Given the description of an element on the screen output the (x, y) to click on. 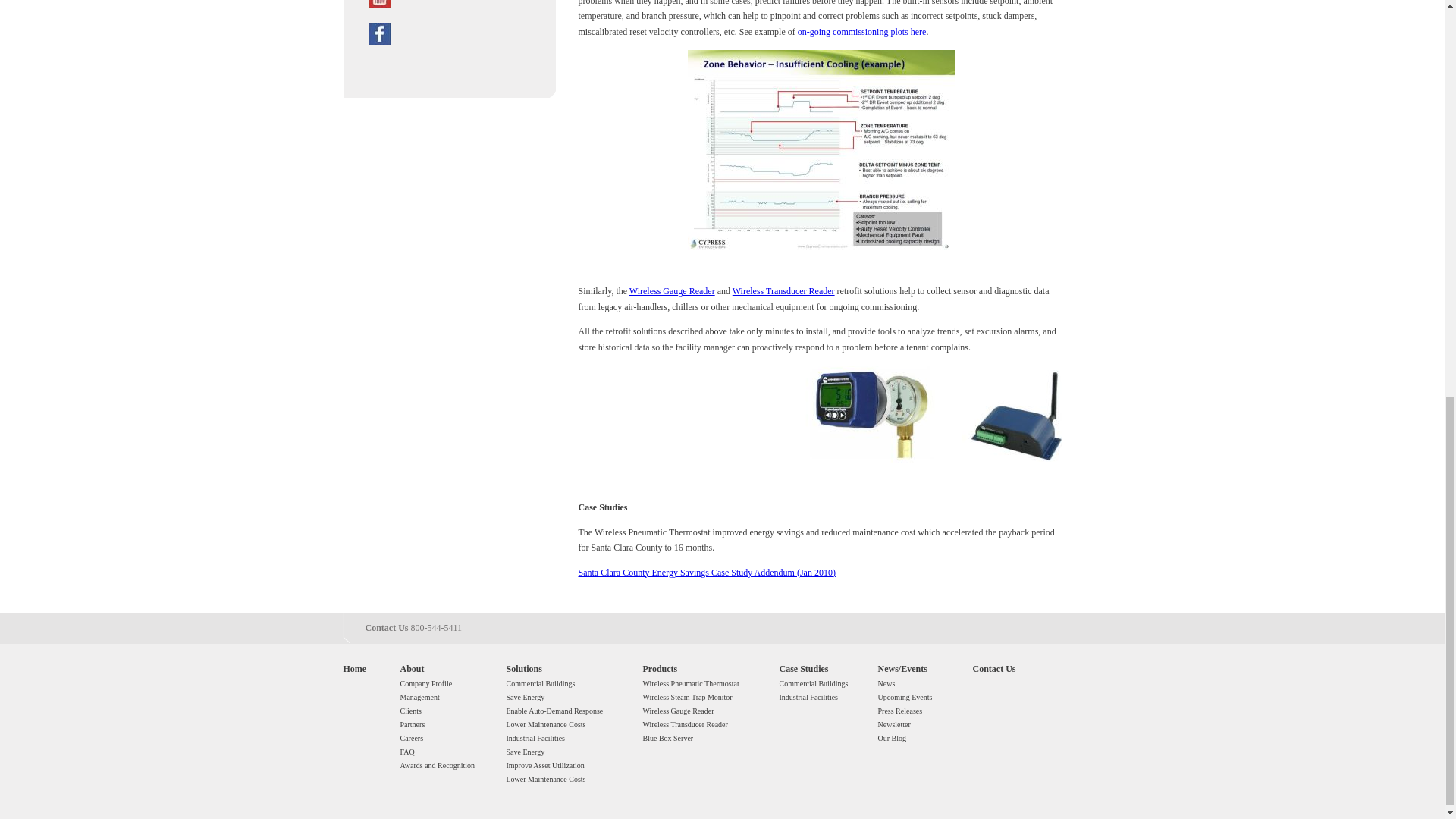
FAQ (407, 751)
Lower Maintenance Costs (546, 778)
Clients (411, 710)
Enable Auto-Demand Response (555, 710)
Commercial Buildings (540, 683)
Save Energy (525, 751)
Careers (411, 737)
Management (419, 696)
Save Energy (525, 696)
About (412, 668)
Industrial Facilities (536, 737)
Awards and Recognition (438, 765)
Home (354, 668)
Company Profile (426, 683)
Improve Asset Utilization (545, 765)
